Given the description of an element on the screen output the (x, y) to click on. 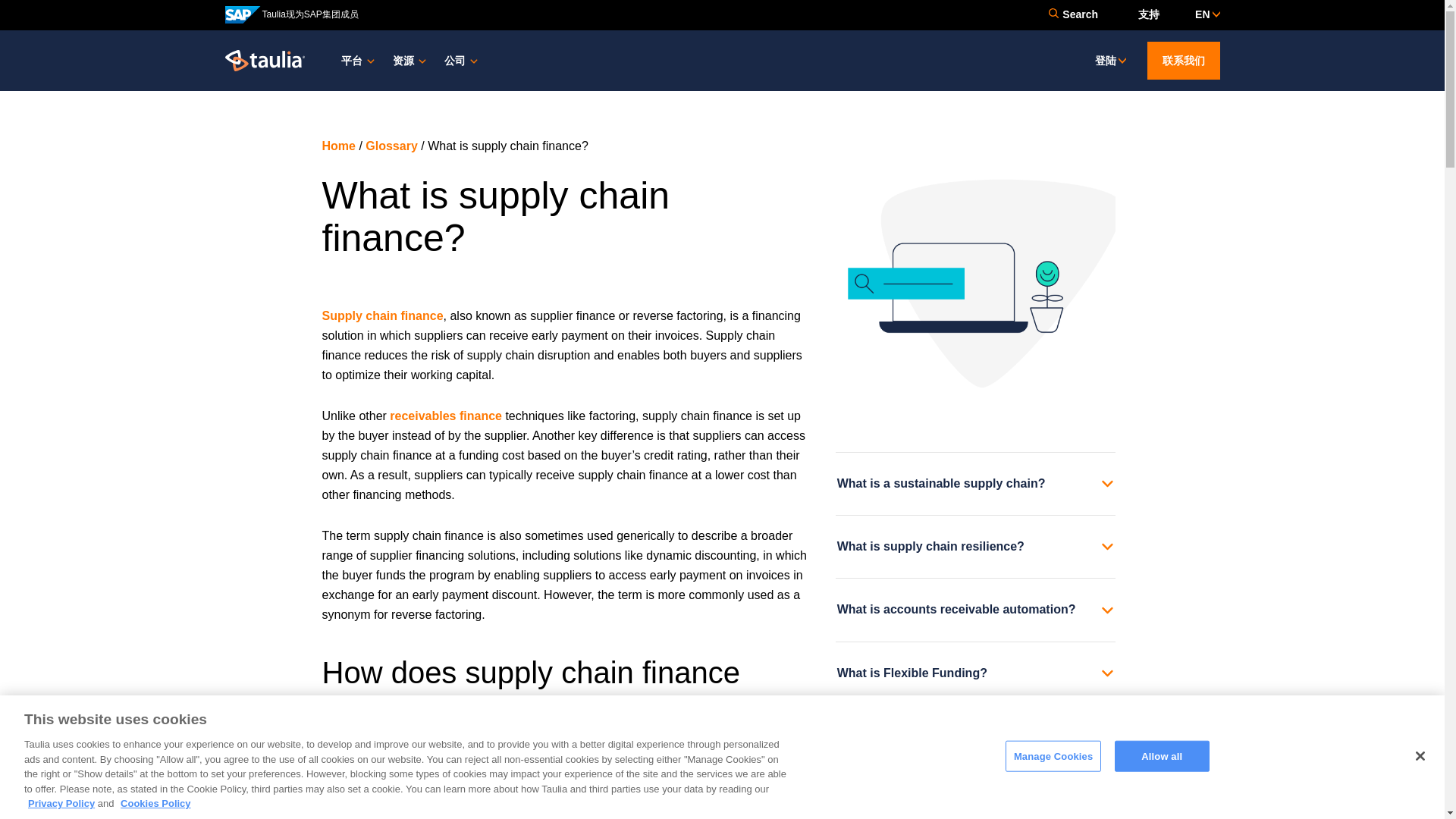
Return to the homepage (264, 59)
Search (1072, 14)
